Given the description of an element on the screen output the (x, y) to click on. 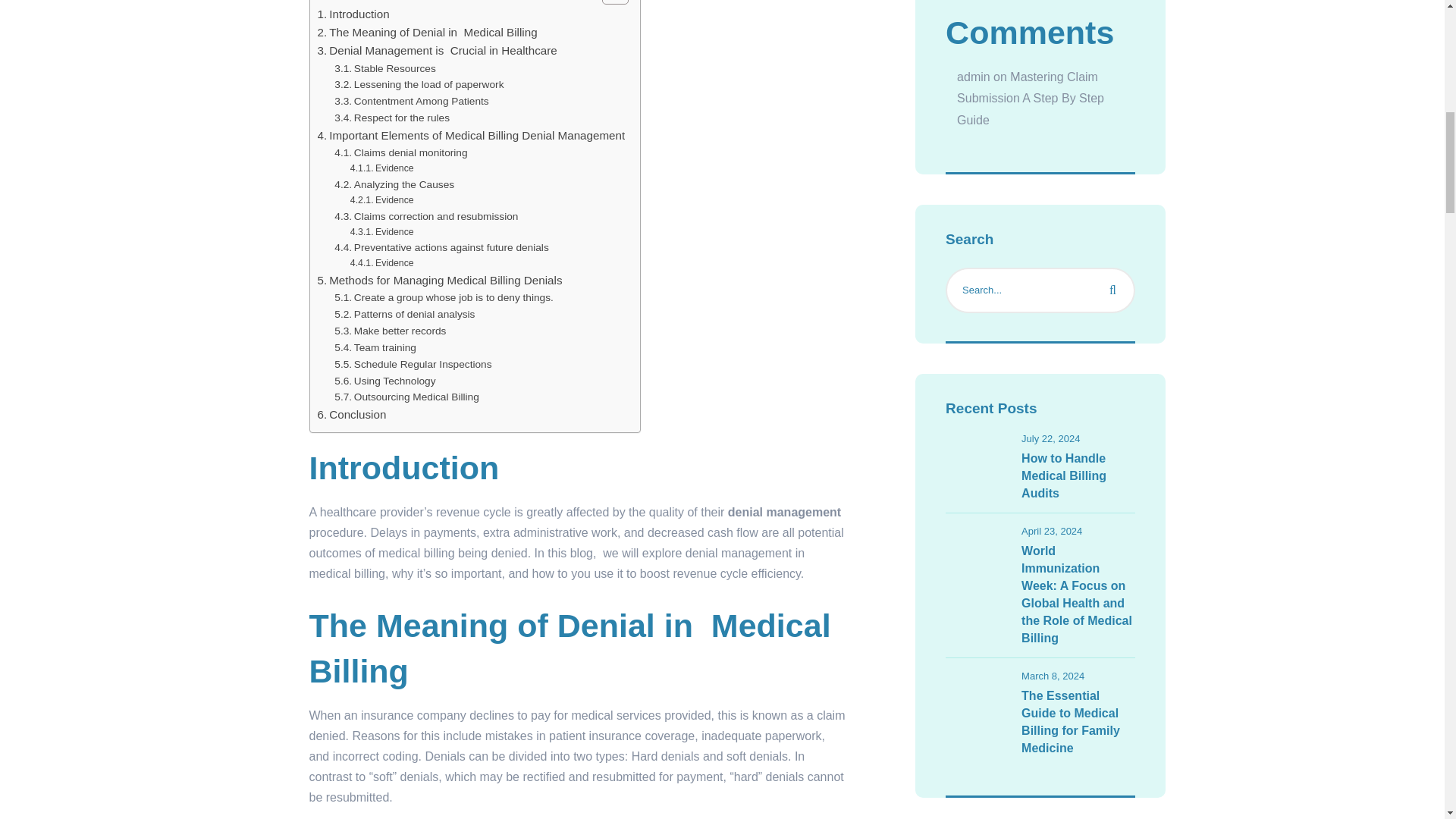
Respect for the rules (391, 117)
Lessening the load of paperwork (418, 84)
Important Elements of Medical Billing Denial Management (470, 135)
The Meaning of Denial in  Medical Billing (427, 32)
Stable Resources (384, 68)
Claims denial monitoring (400, 152)
Lessening the load of paperwork (418, 84)
Analyzing the Causes (394, 184)
Stable Resources (384, 68)
